Given the description of an element on the screen output the (x, y) to click on. 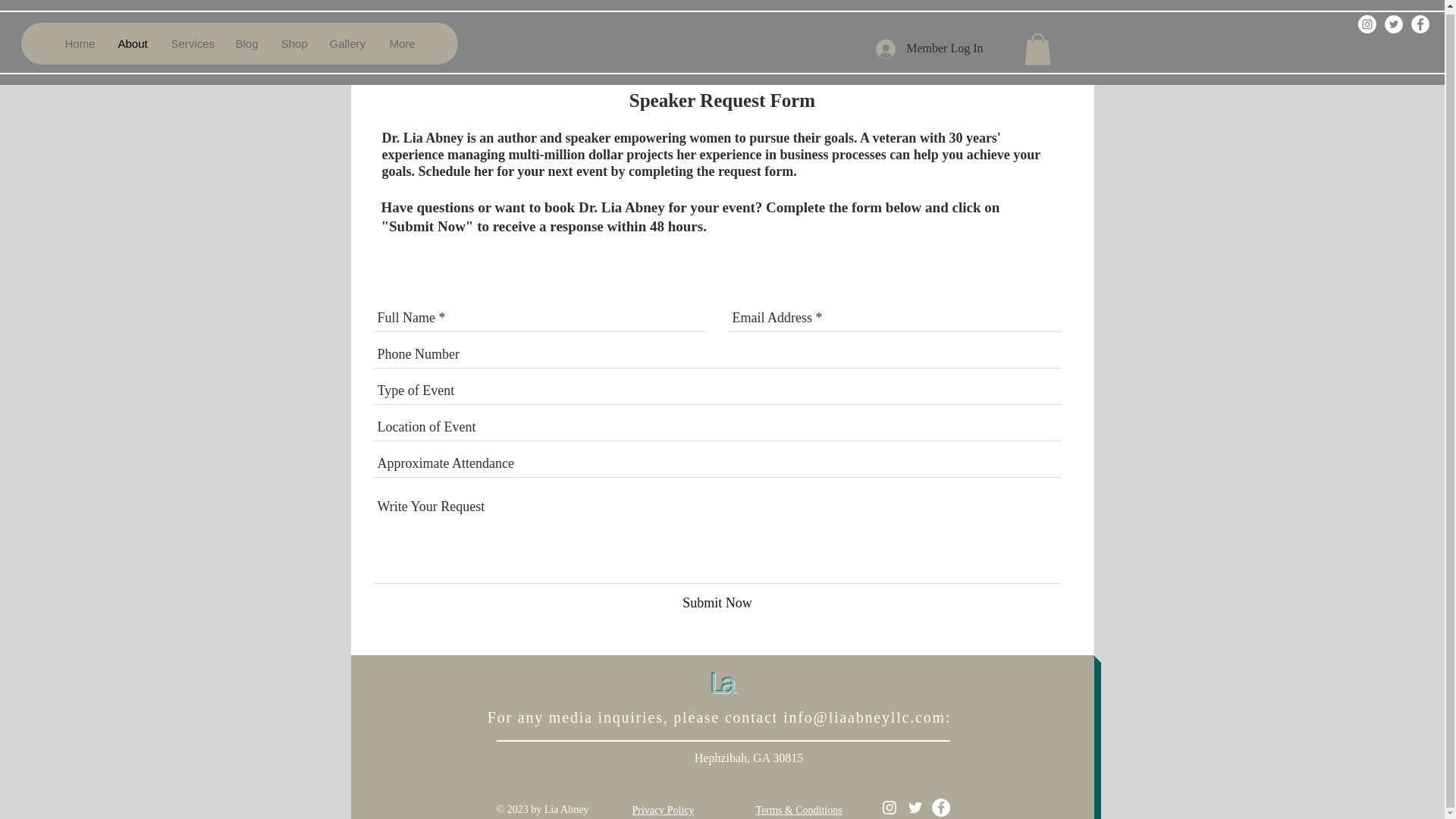
Blog (244, 40)
Gallery (347, 40)
About (132, 40)
Privacy Policy (662, 809)
Submit Now (716, 602)
Services (191, 40)
Shop (292, 40)
Home (79, 40)
Member Log In (928, 45)
